Given the description of an element on the screen output the (x, y) to click on. 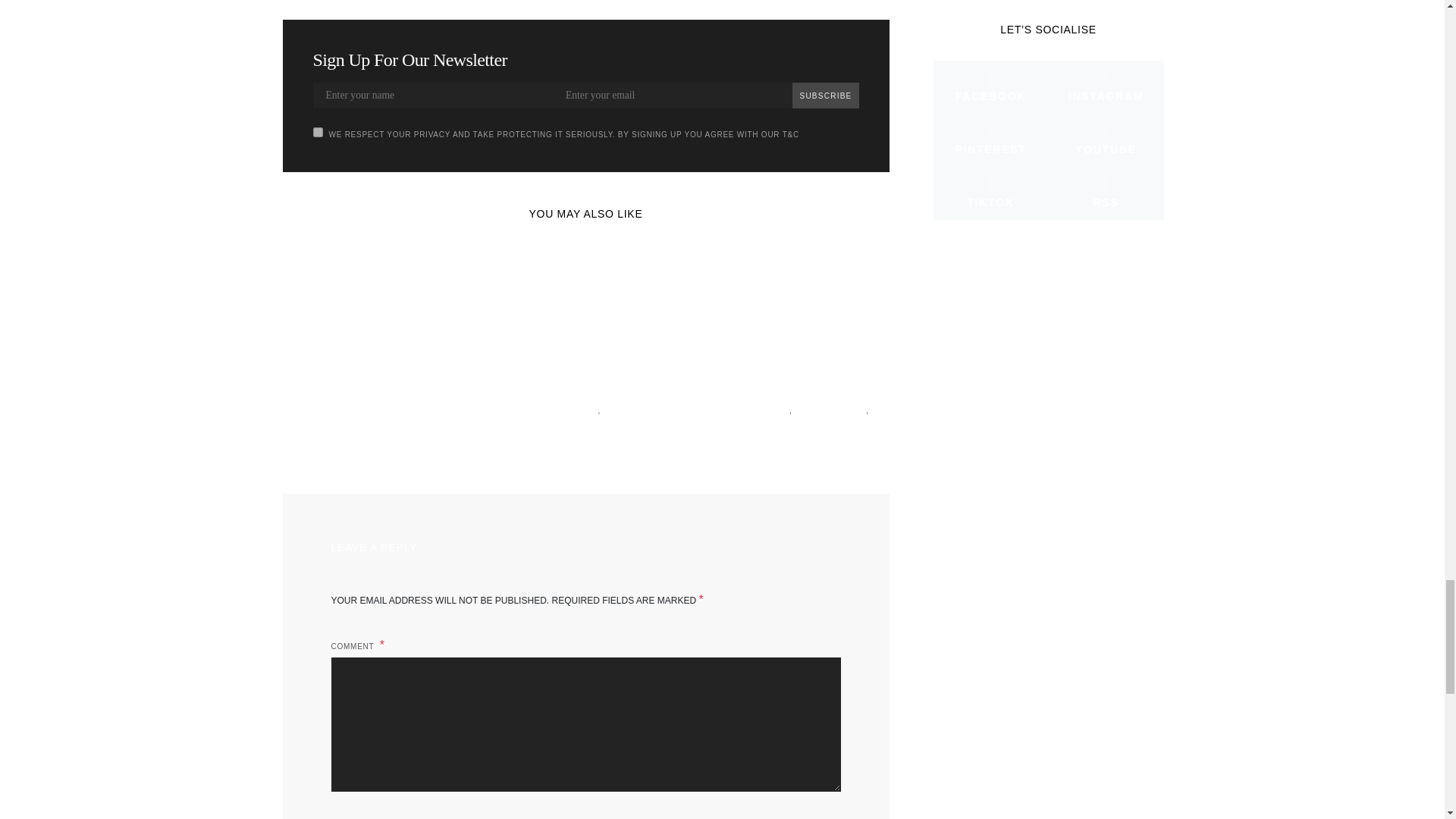
on (317, 132)
